Given the description of an element on the screen output the (x, y) to click on. 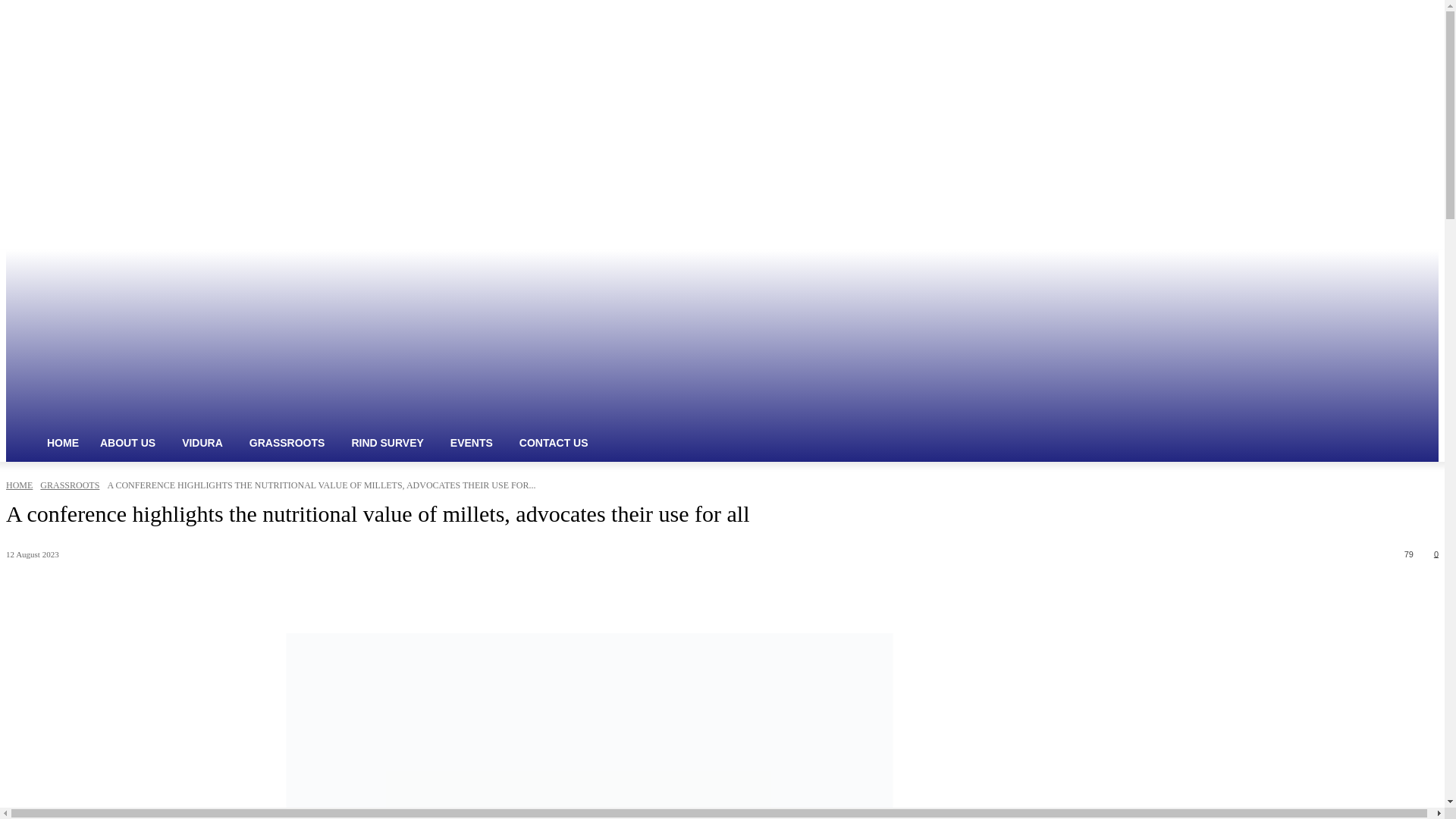
ABOUT US (129, 443)
GRASSROOTS (289, 443)
Facebook (1407, 260)
VIDURA (204, 443)
Youtube (1429, 260)
HOME (62, 443)
